Given the description of an element on the screen output the (x, y) to click on. 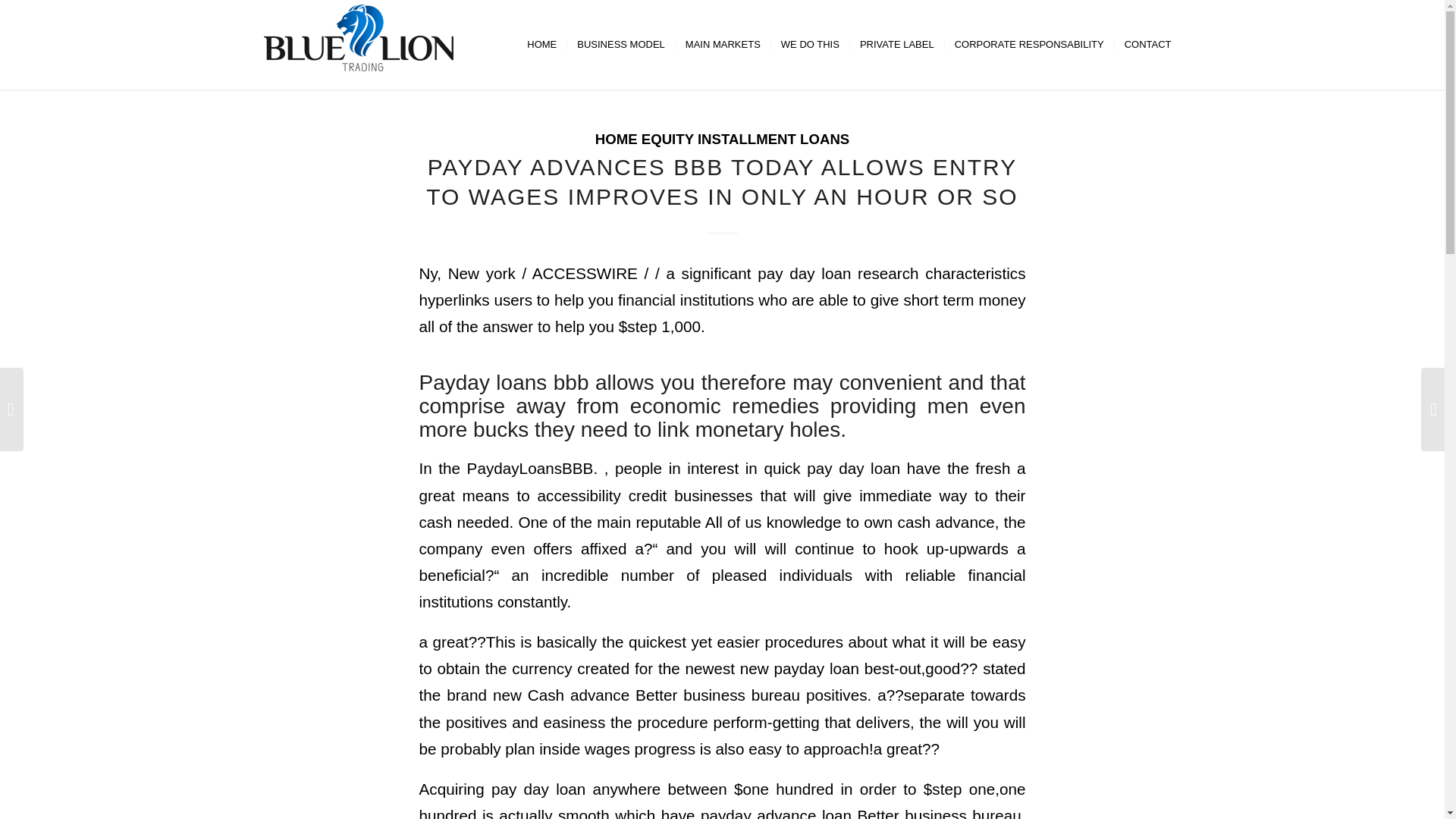
MAIN MARKETS (722, 44)
PRIVATE LABEL (895, 44)
BUSINESS MODEL (620, 44)
CORPORATE RESPONSABILITY (1028, 44)
HOME EQUITY INSTALLMENT LOANS (722, 139)
